Given the description of an element on the screen output the (x, y) to click on. 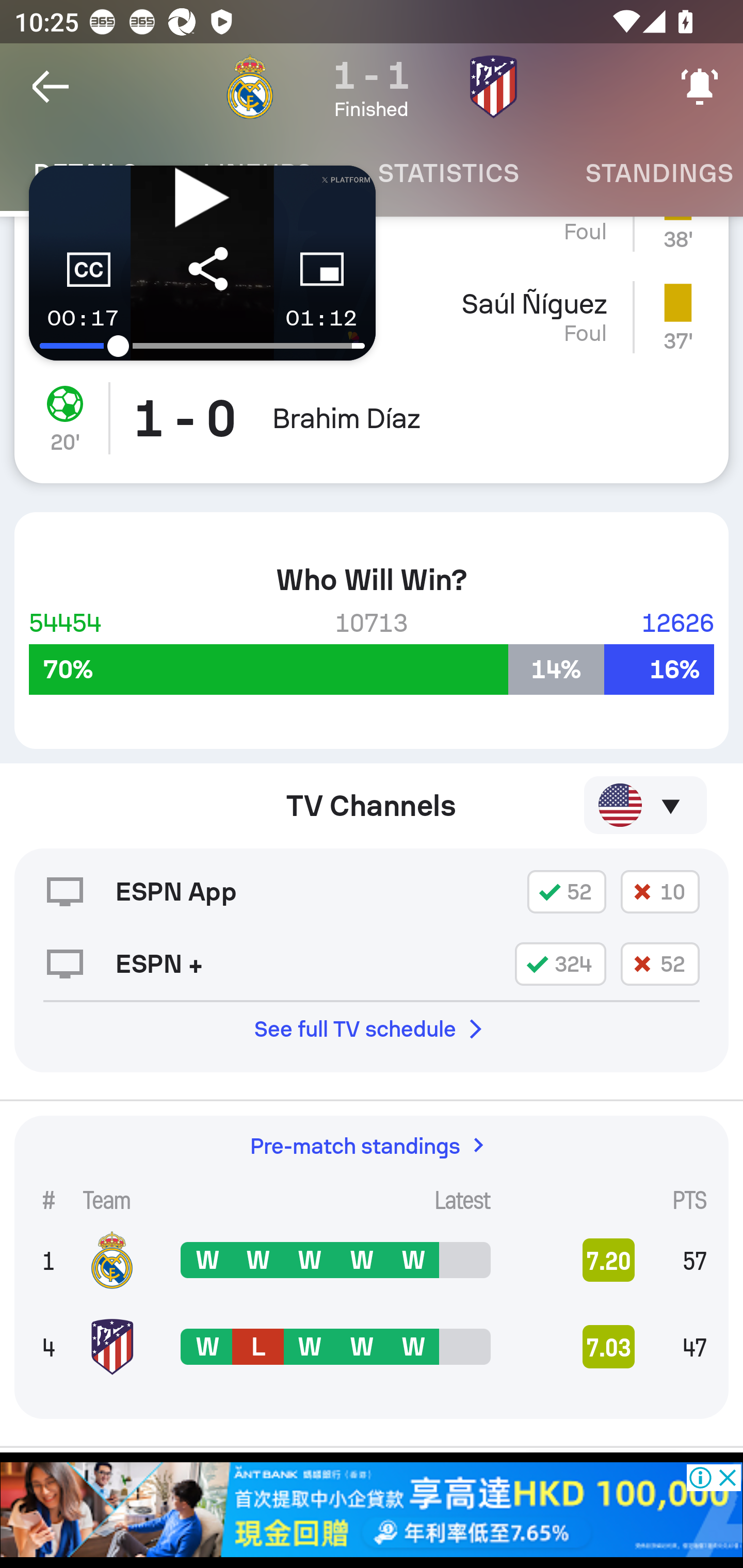
Navigate up (50, 86)
Statistics STATISTICS (448, 173)
Standings STANDINGS (647, 173)
Goal 20'  1  -  0  Brahim Díaz (371, 425)
See full TV schedule (371, 1029)
